Given the description of an element on the screen output the (x, y) to click on. 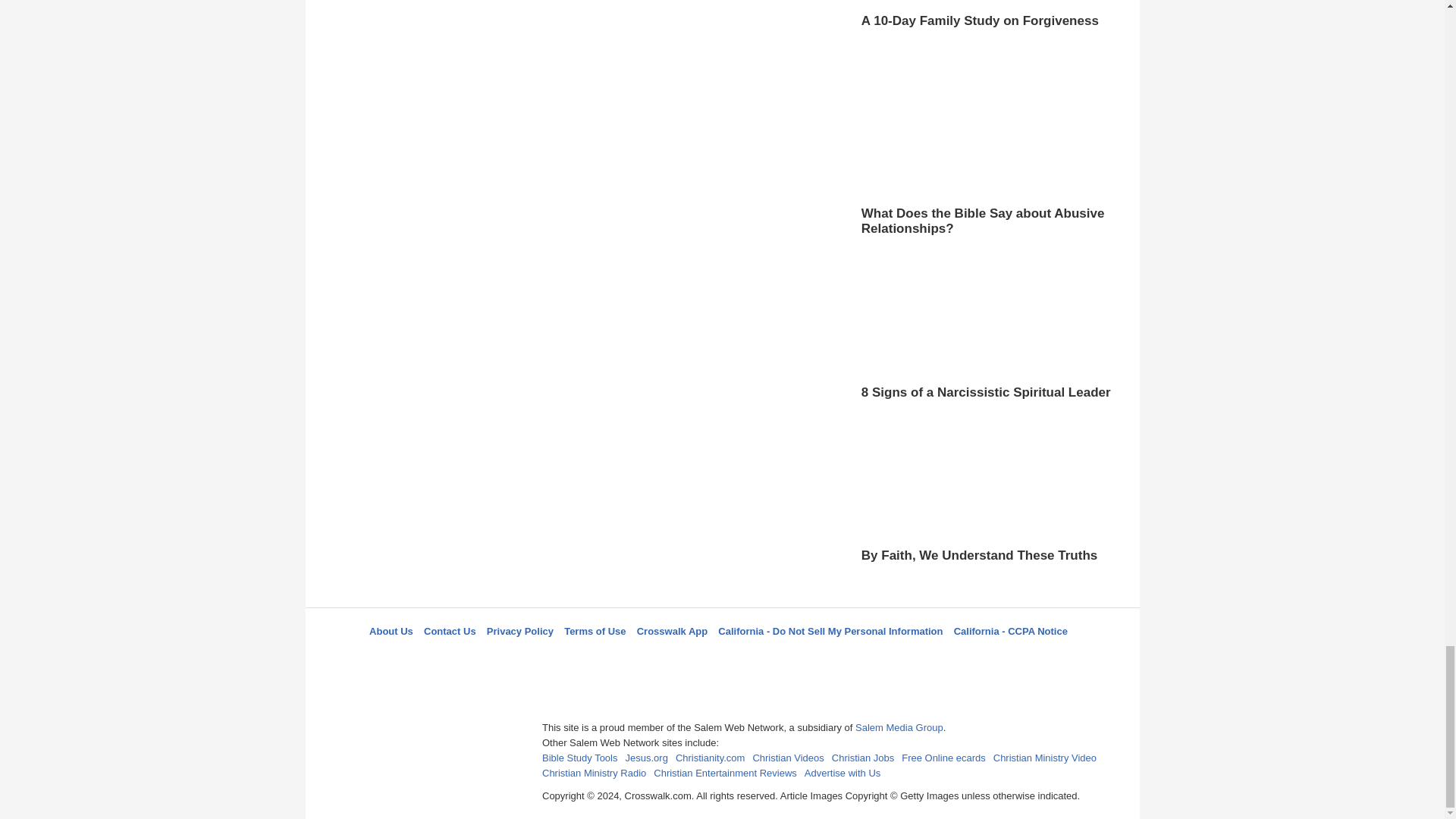
YouTube (795, 658)
Facebook (645, 658)
Twitter (683, 658)
Pinterest (757, 658)
LifeAudio (719, 658)
